Given the description of an element on the screen output the (x, y) to click on. 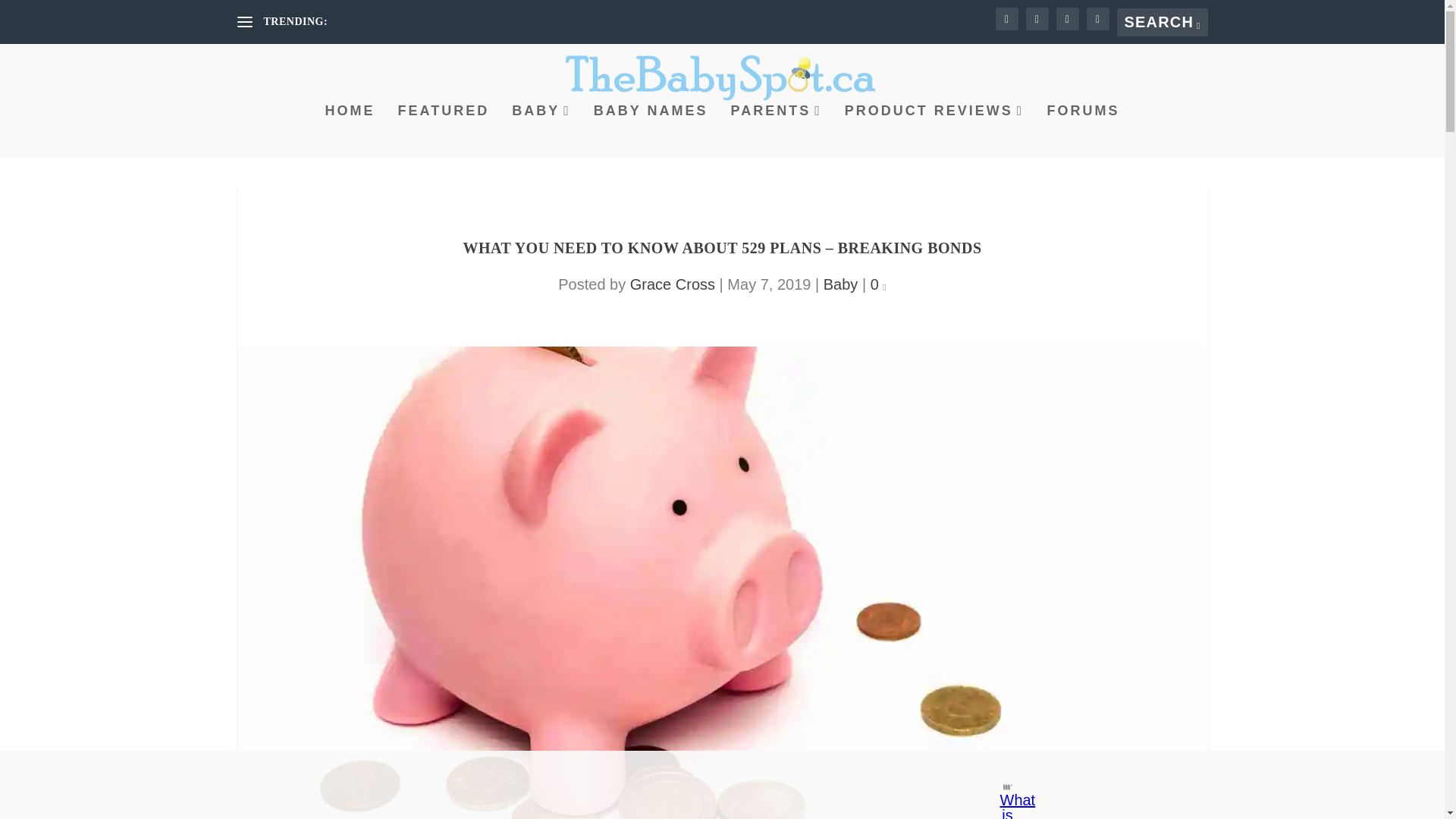
PRODUCT REVIEWS (934, 131)
PARENTS (776, 131)
HOME (349, 131)
FORUMS (1082, 131)
FEATURED (443, 131)
BABY (541, 131)
Posts by Grace Cross (672, 284)
Search for: (1161, 22)
BABY NAMES (650, 131)
